Given the description of an element on the screen output the (x, y) to click on. 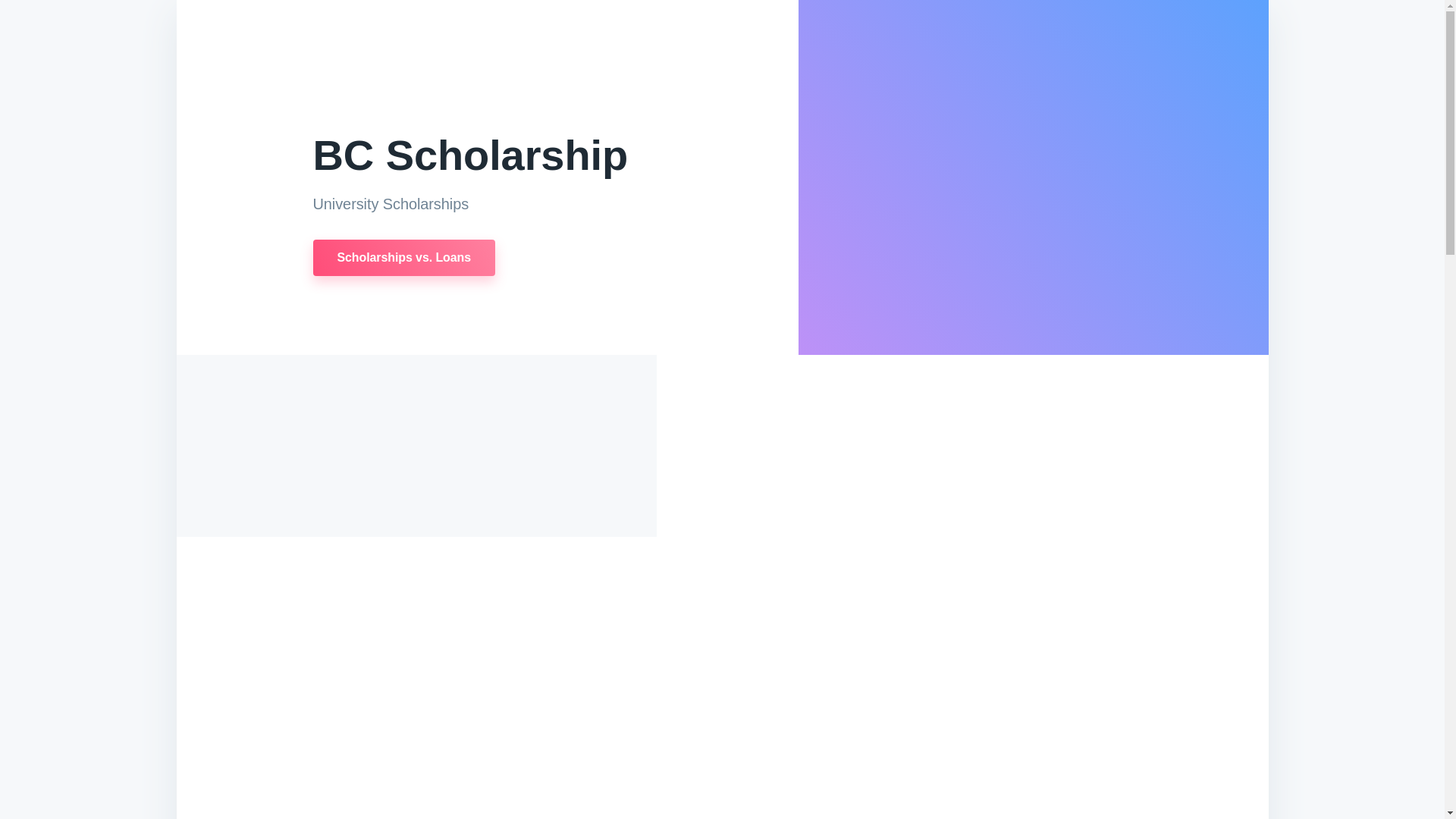
Scholarships vs. Loans Element type: text (403, 257)
